Given the description of an element on the screen output the (x, y) to click on. 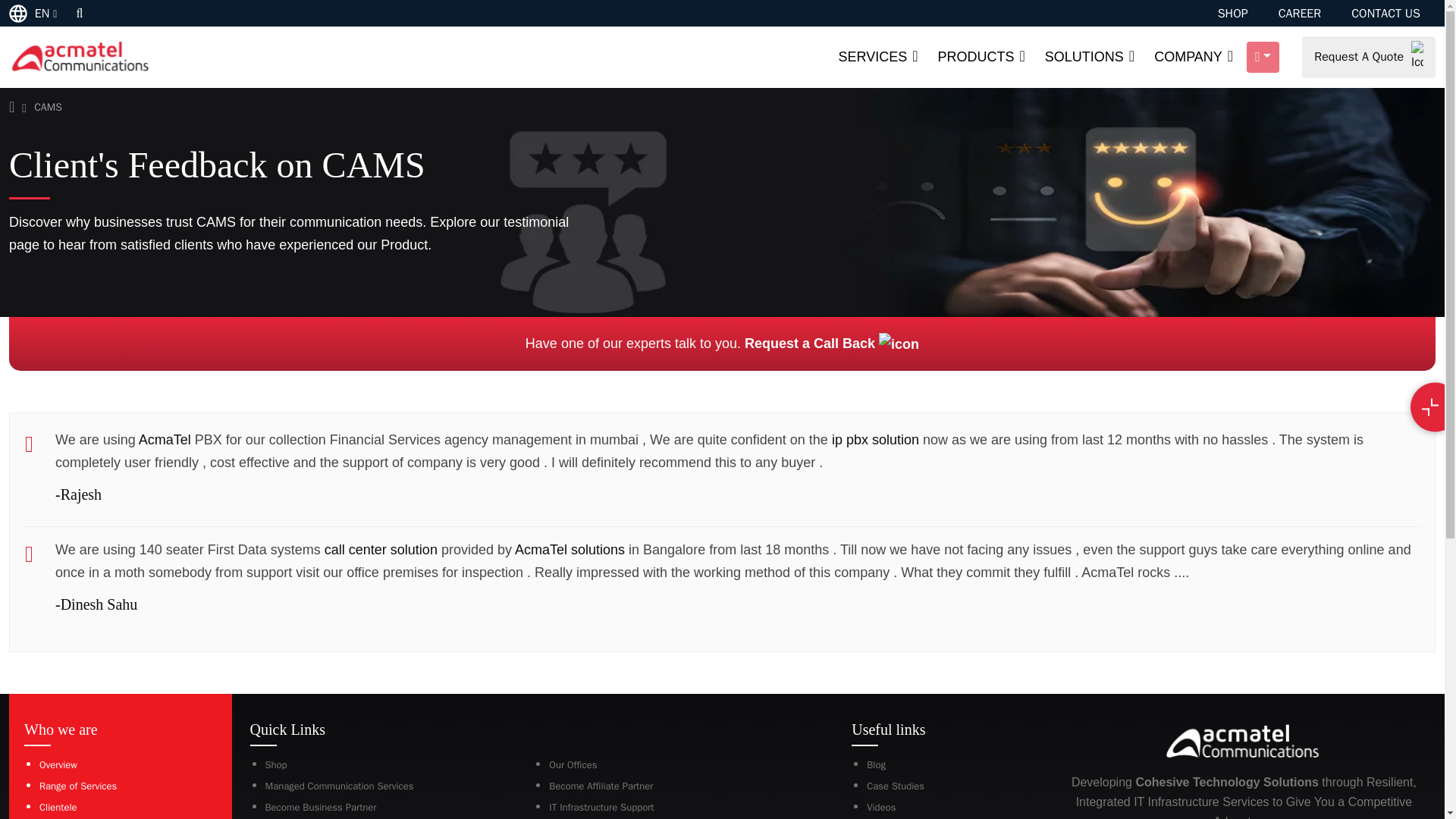
SERVICES (877, 56)
CAREER (1300, 13)
CONTACT US (1386, 13)
SHOP (1232, 13)
EN (34, 12)
